Given the description of an element on the screen output the (x, y) to click on. 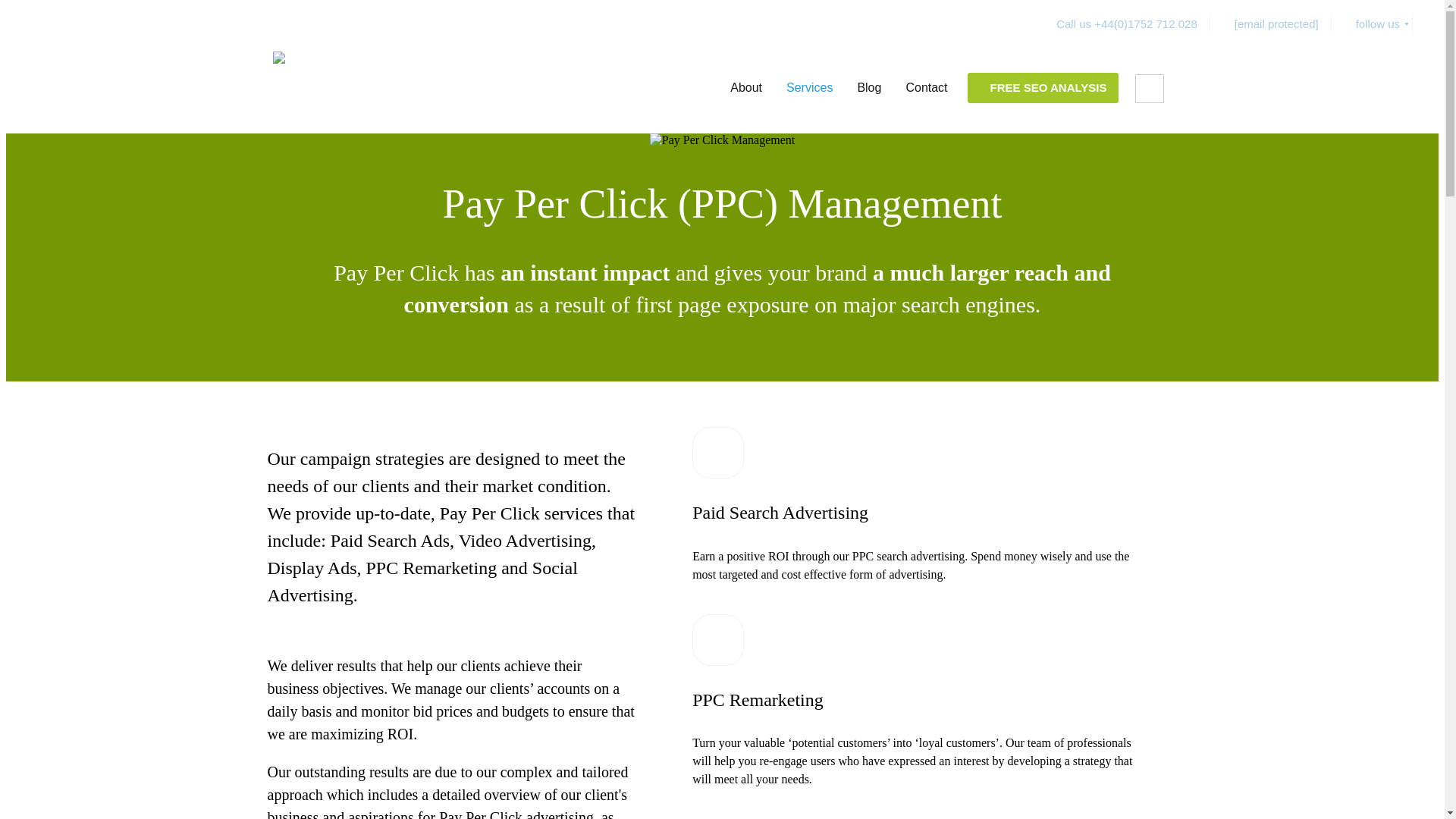
Services (809, 87)
Pay Per Click Management (721, 140)
About (745, 87)
FREE SEO ANALYSIS (1043, 87)
Search (13, 9)
Blog (868, 87)
Contact (926, 87)
follow us (1372, 23)
